Given the description of an element on the screen output the (x, y) to click on. 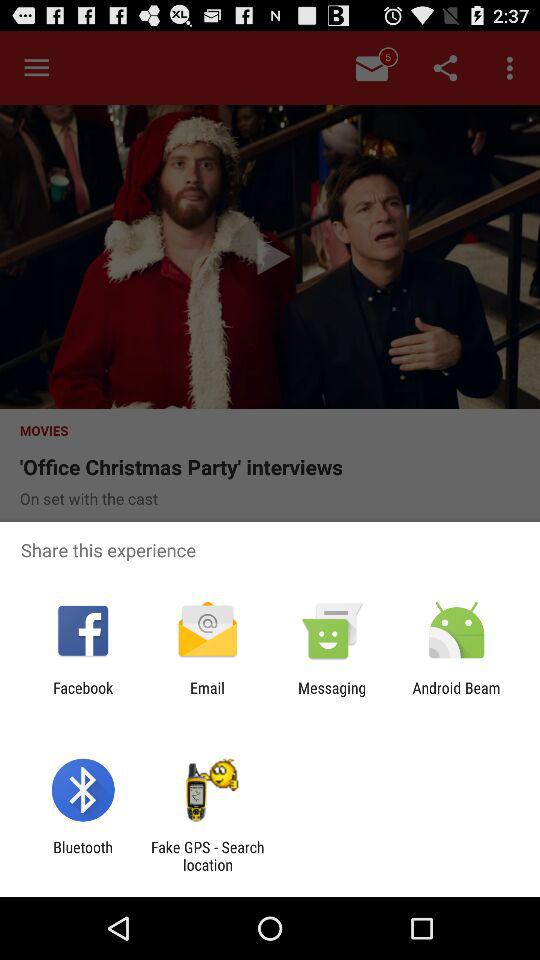
turn on the icon next to email item (83, 696)
